Given the description of an element on the screen output the (x, y) to click on. 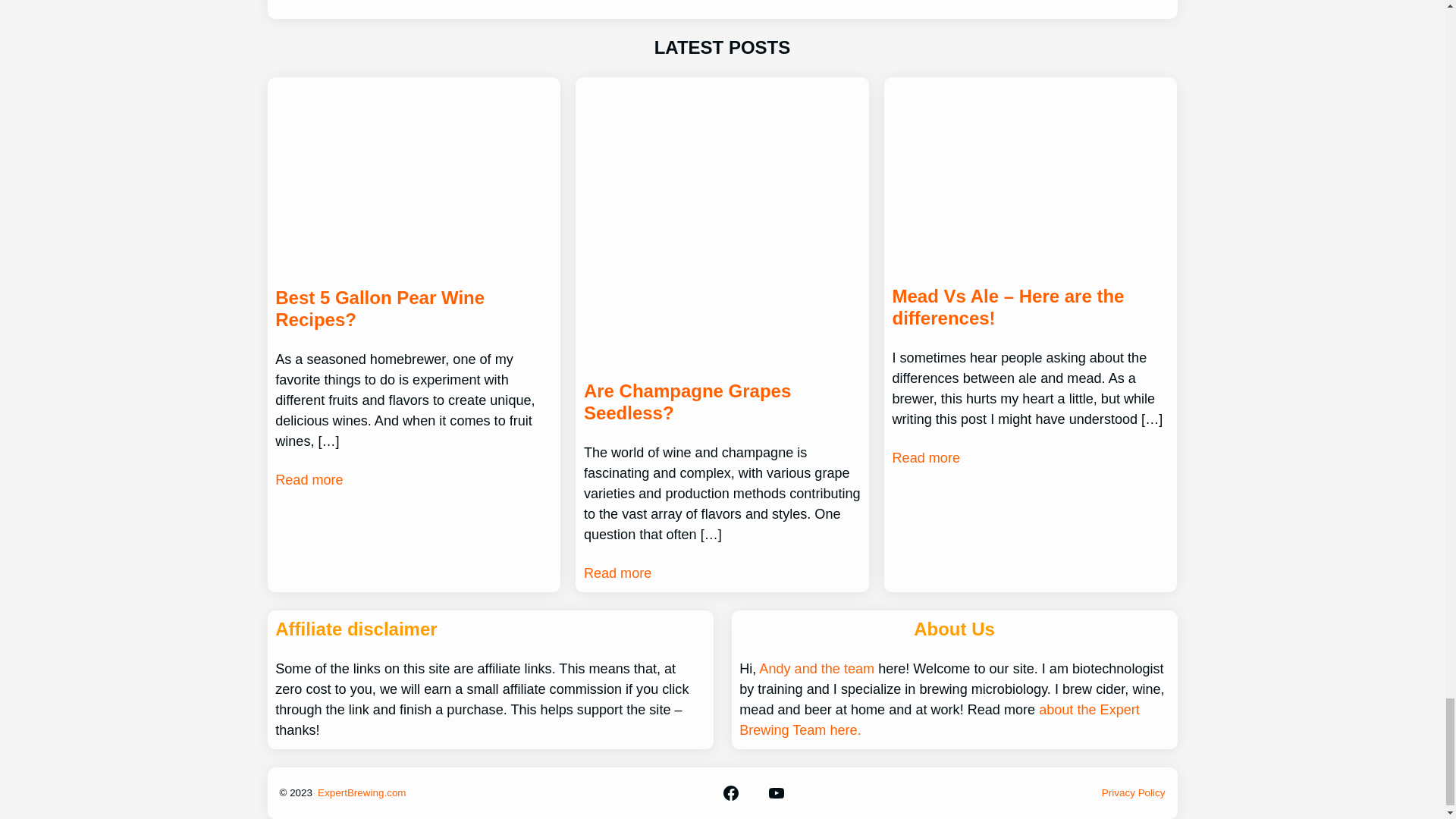
Read more (925, 457)
ExpertBrewing.com (361, 792)
Facebook (730, 792)
Read more (308, 480)
about the Expert Brewing Team here. (939, 719)
YouTube (776, 792)
Best 5 Gallon Pear Wine Recipes? (413, 309)
Privacy Policy (1134, 792)
Are Champagne Grapes Seedless? (721, 402)
Andy and the team (816, 668)
Read more (616, 573)
